Given the description of an element on the screen output the (x, y) to click on. 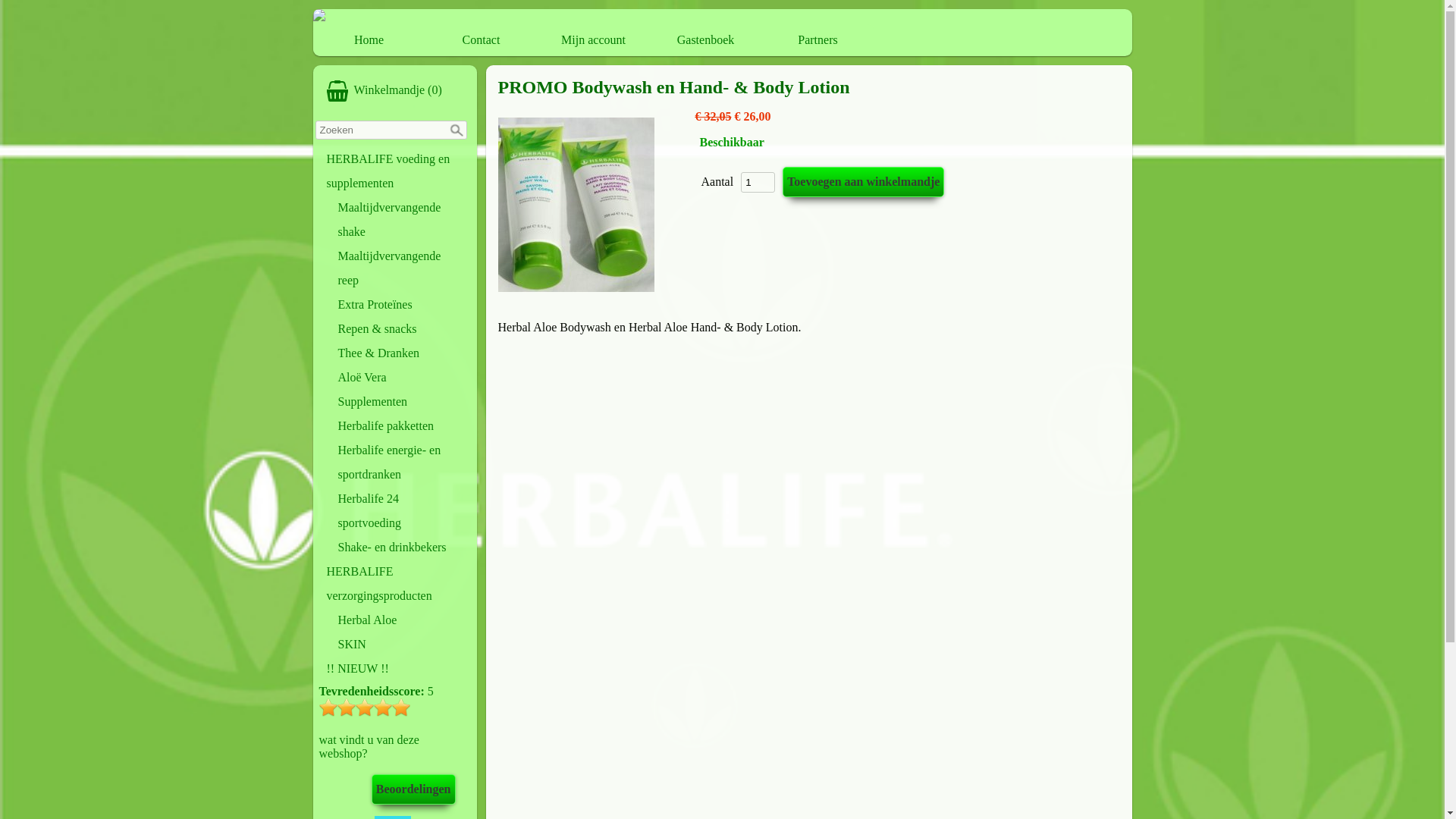
Maaltijdvervangende reep Element type: text (399, 268)
Thee & Dranken Element type: text (399, 353)
Beoordelingen Element type: text (413, 789)
Mijn account Element type: text (593, 40)
Supplementen Element type: text (399, 401)
!! NIEUW !! Element type: text (394, 668)
Maaltijdvervangende shake Element type: text (399, 219)
Herbal Aloe Element type: text (399, 620)
Partners Element type: text (817, 40)
HERBALIFE verzorgingsproducten Element type: text (394, 583)
Herbalife 24 sportvoeding Element type: text (399, 510)
Repen & snacks Element type: text (399, 328)
Toevoegen aan winkelmandje Element type: text (863, 181)
Gastenboek Element type: text (705, 40)
Contact Element type: text (481, 40)
SKIN Element type: text (399, 644)
WinkelmandjeWinkelmandje (0) Element type: text (394, 90)
Herbalife energie- en sportdranken Element type: text (399, 462)
Herbalife pakketten Element type: text (399, 426)
Shake- en drinkbekers Element type: text (399, 547)
HERBALIFE voeding en supplementen Element type: text (394, 171)
Home Element type: text (368, 40)
